Given the description of an element on the screen output the (x, y) to click on. 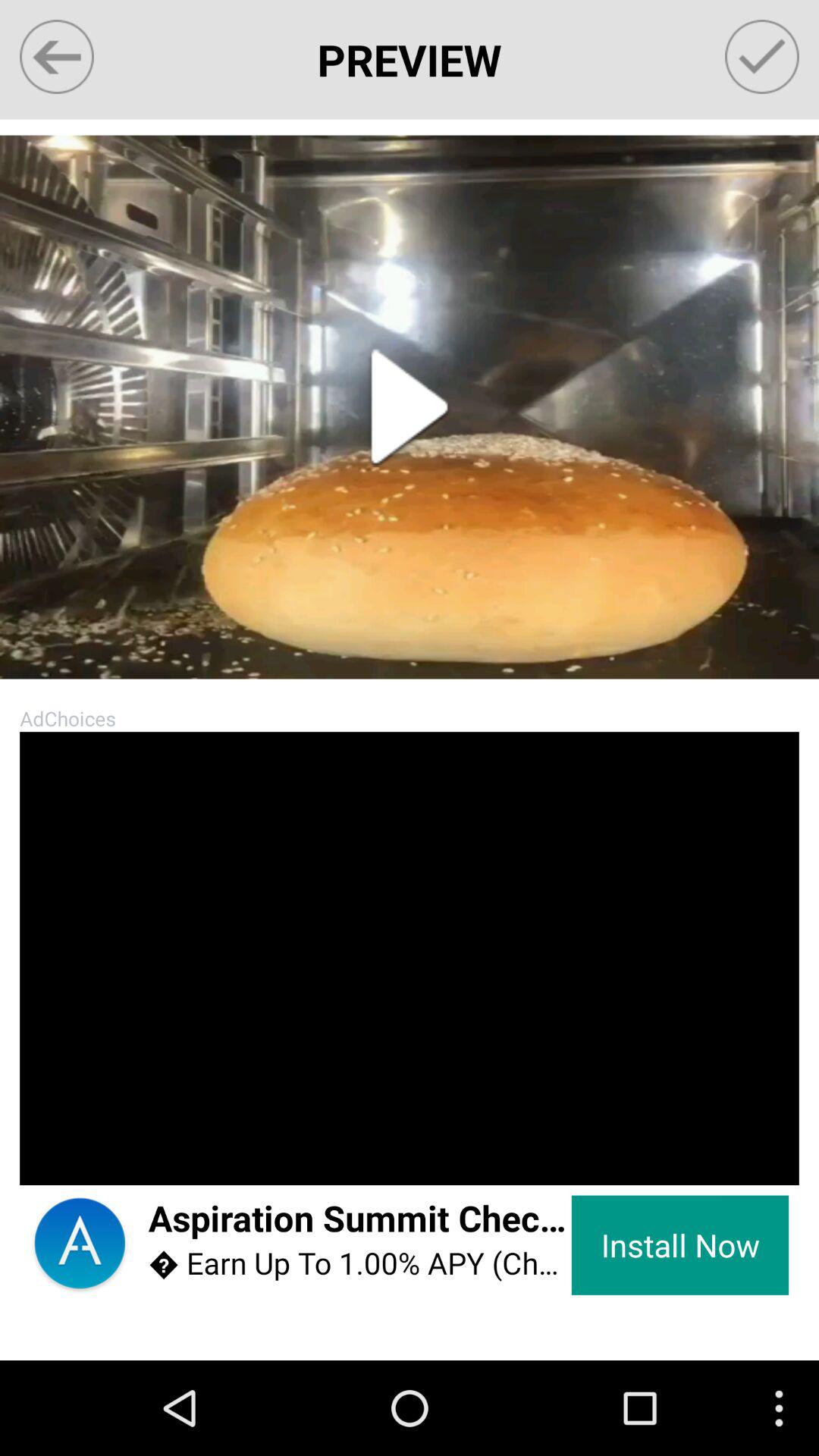
go back (56, 56)
